Given the description of an element on the screen output the (x, y) to click on. 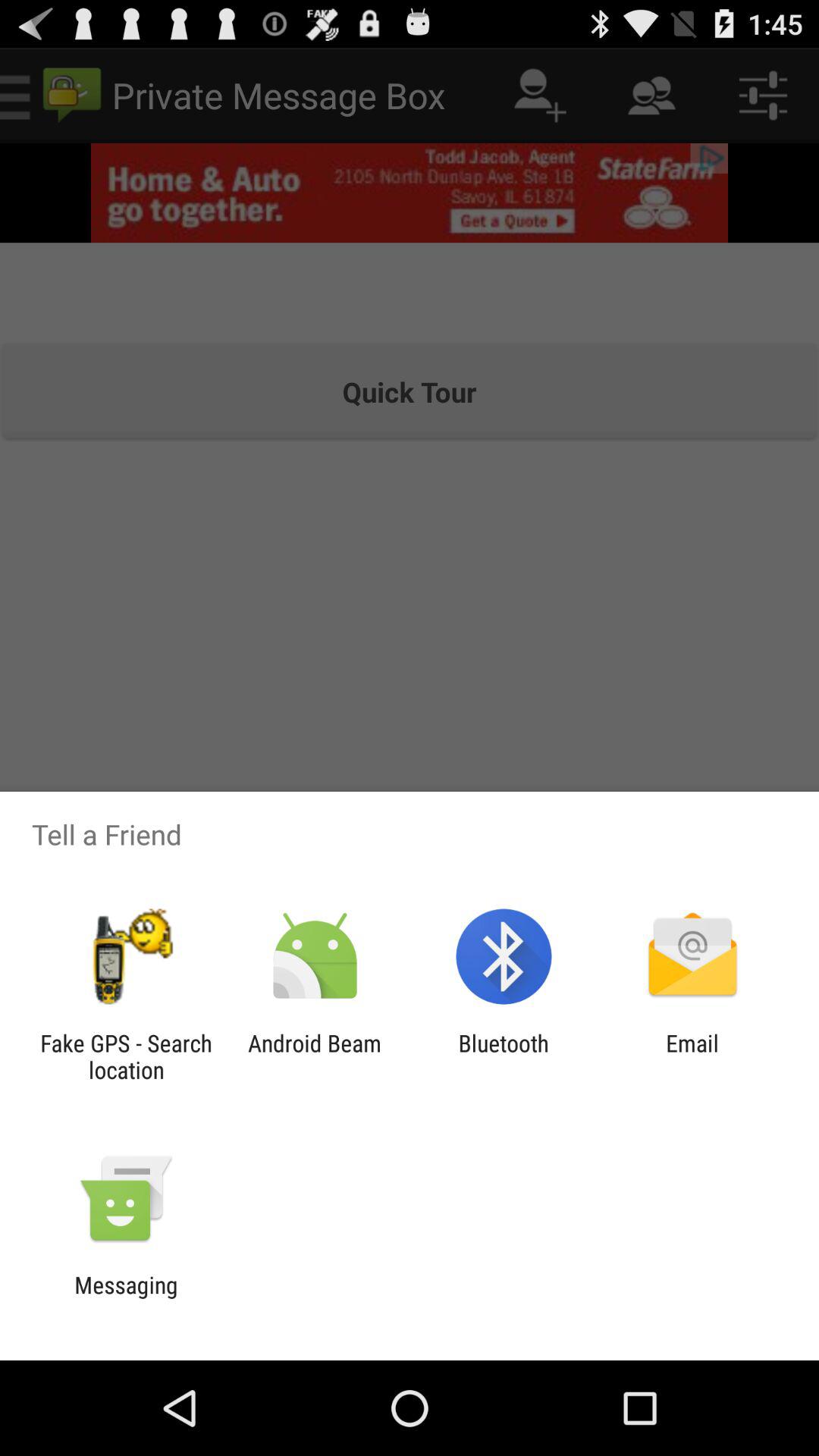
scroll until the email item (692, 1056)
